Given the description of an element on the screen output the (x, y) to click on. 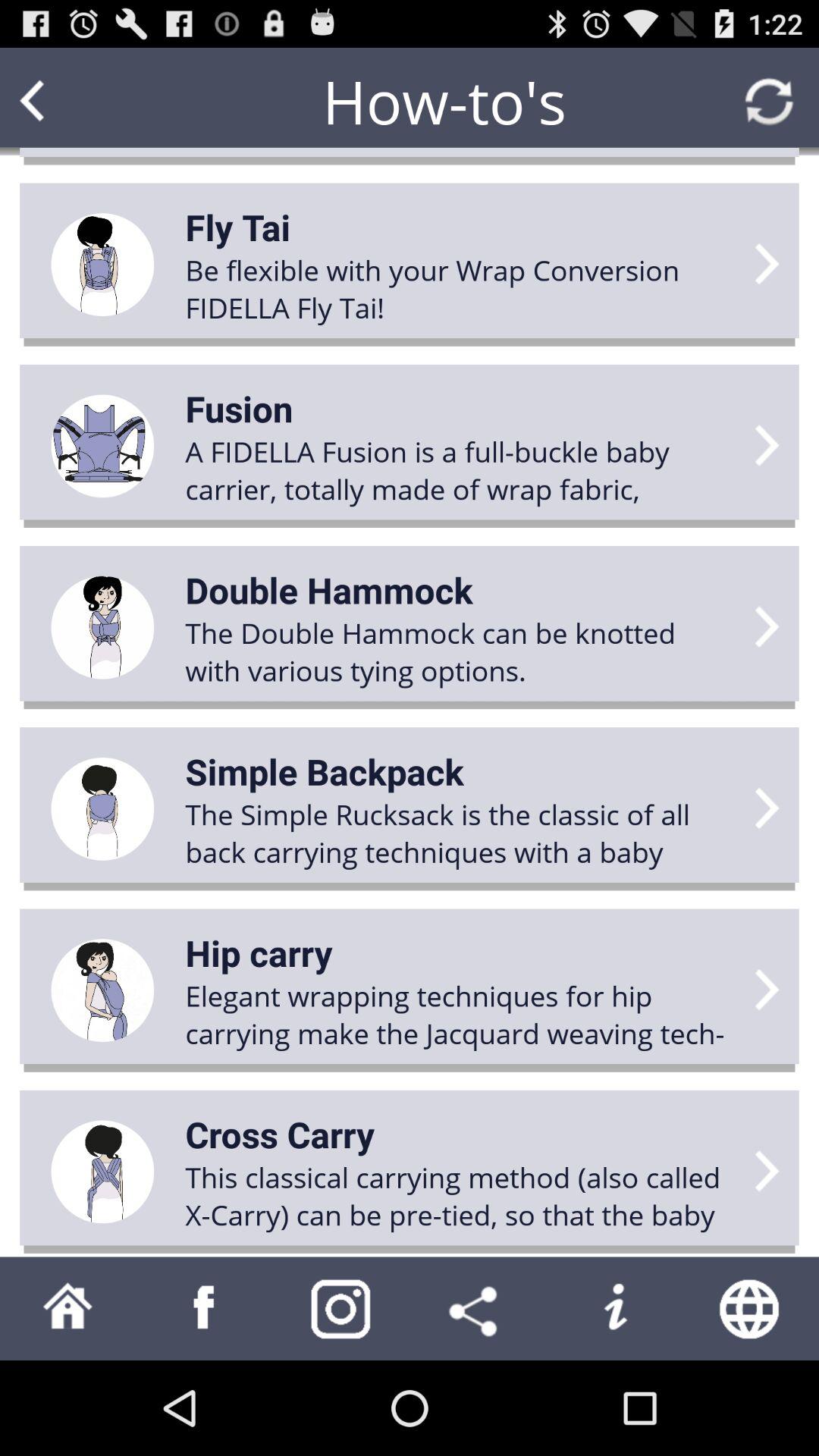
shares the page (477, 1308)
